Given the description of an element on the screen output the (x, y) to click on. 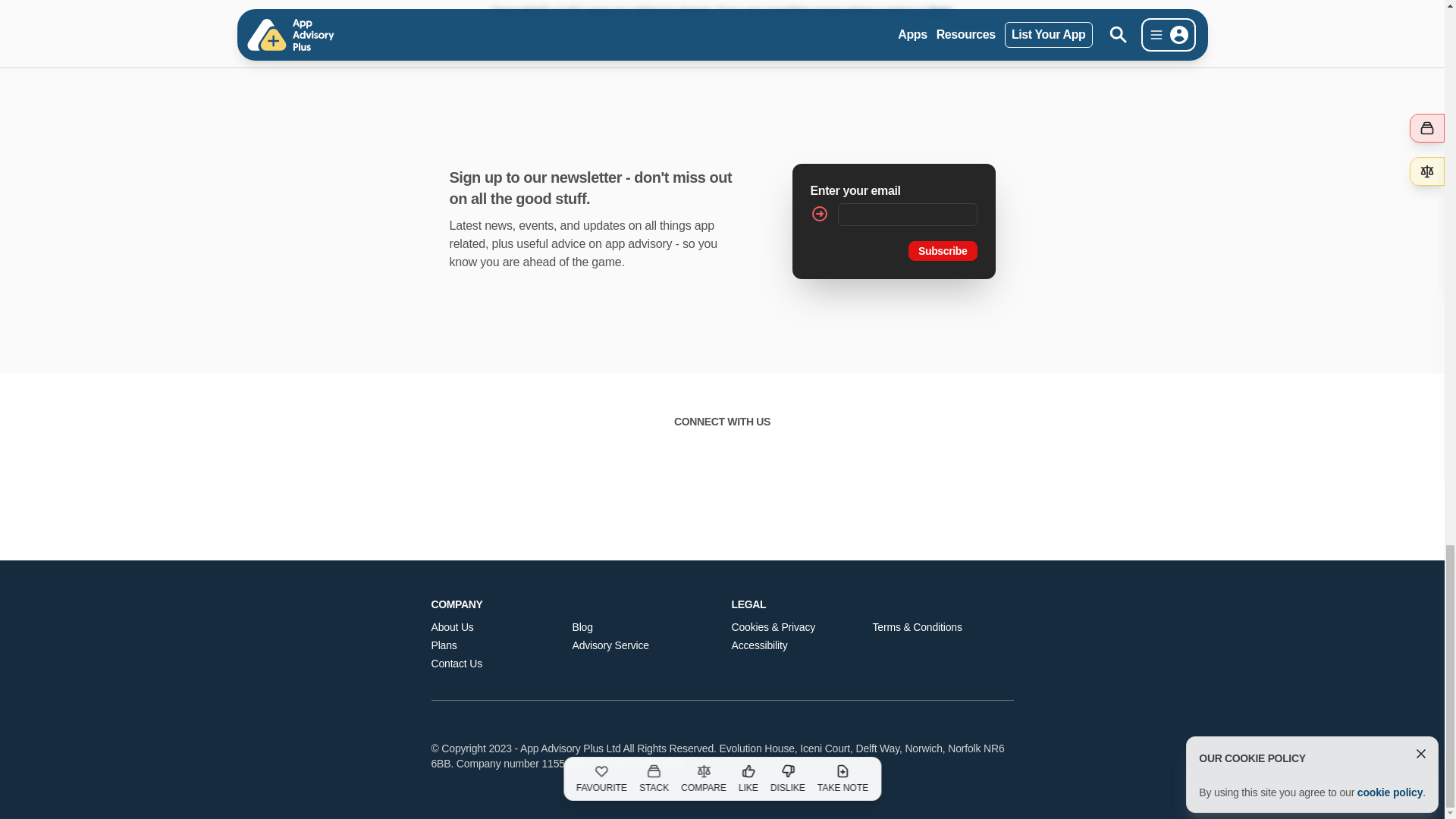
Subscribe (942, 250)
here (939, 11)
